Given the description of an element on the screen output the (x, y) to click on. 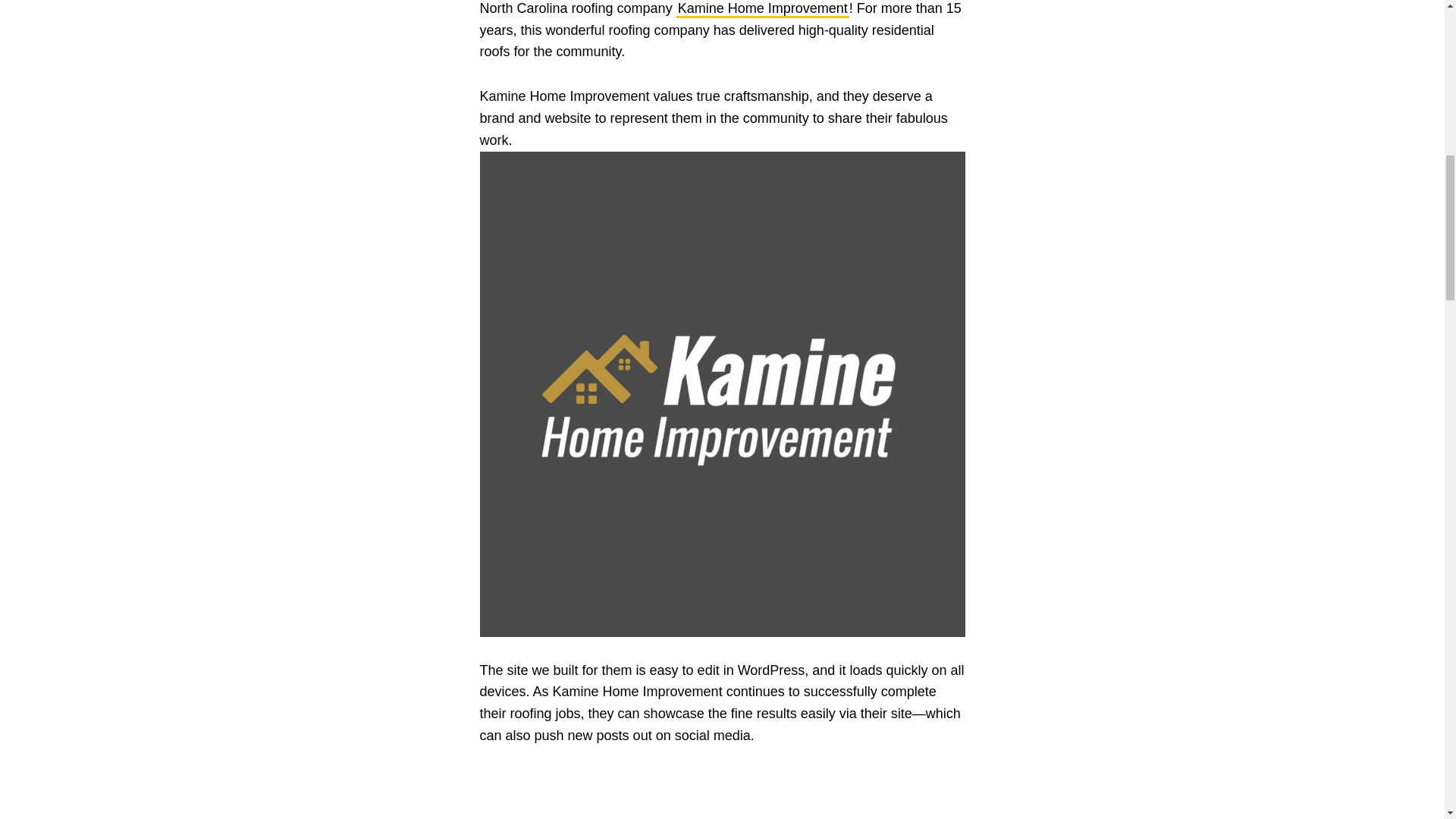
Kamine Home Improvement (762, 9)
